Given the description of an element on the screen output the (x, y) to click on. 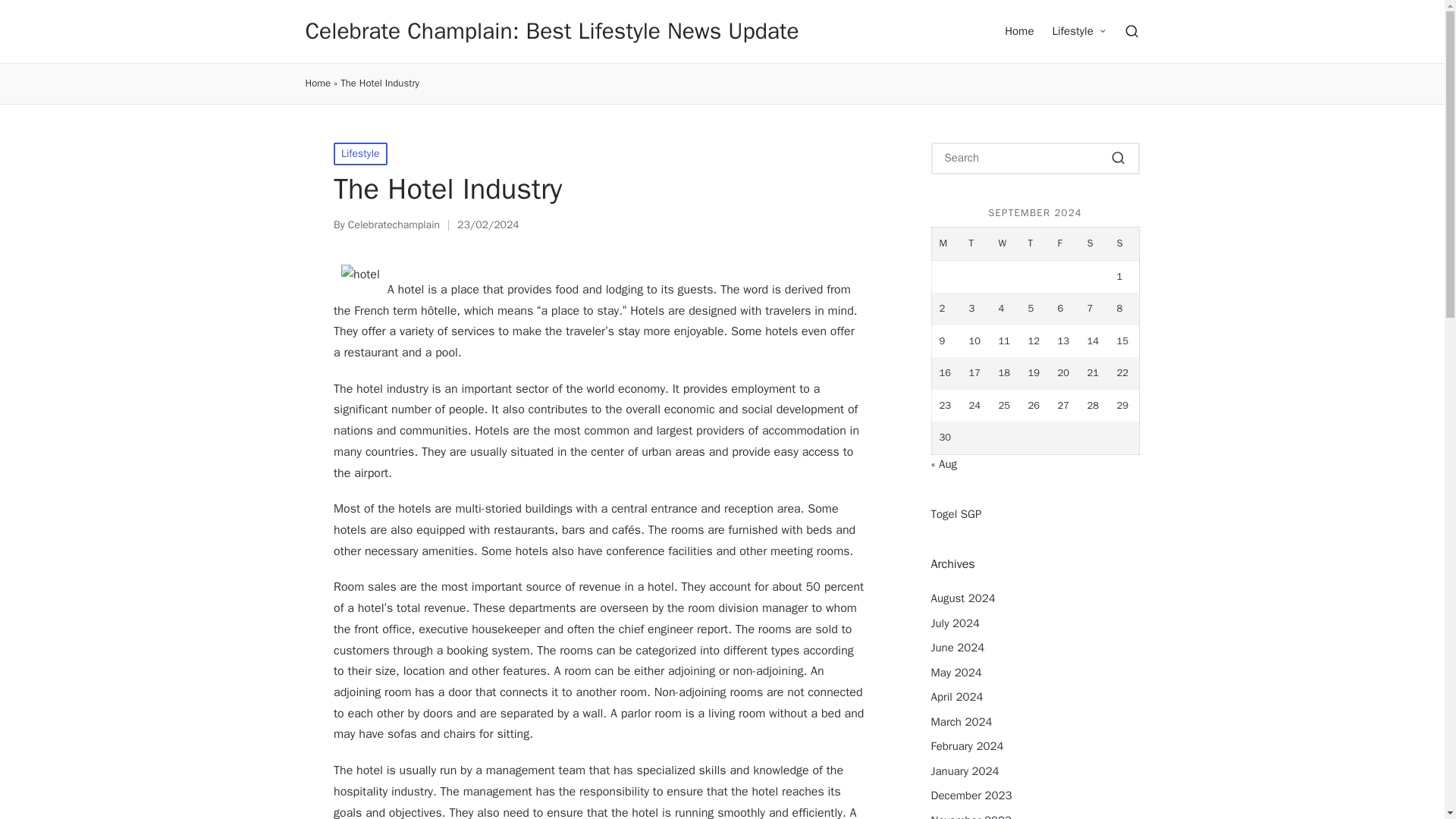
Sunday (1123, 244)
March 2024 (961, 722)
January 2024 (964, 771)
Home (1018, 30)
Togel SGP (956, 513)
July 2024 (955, 623)
Home (317, 83)
View all posts by Celebratechamplain (393, 224)
Lifestyle (360, 153)
June 2024 (958, 647)
